Given the description of an element on the screen output the (x, y) to click on. 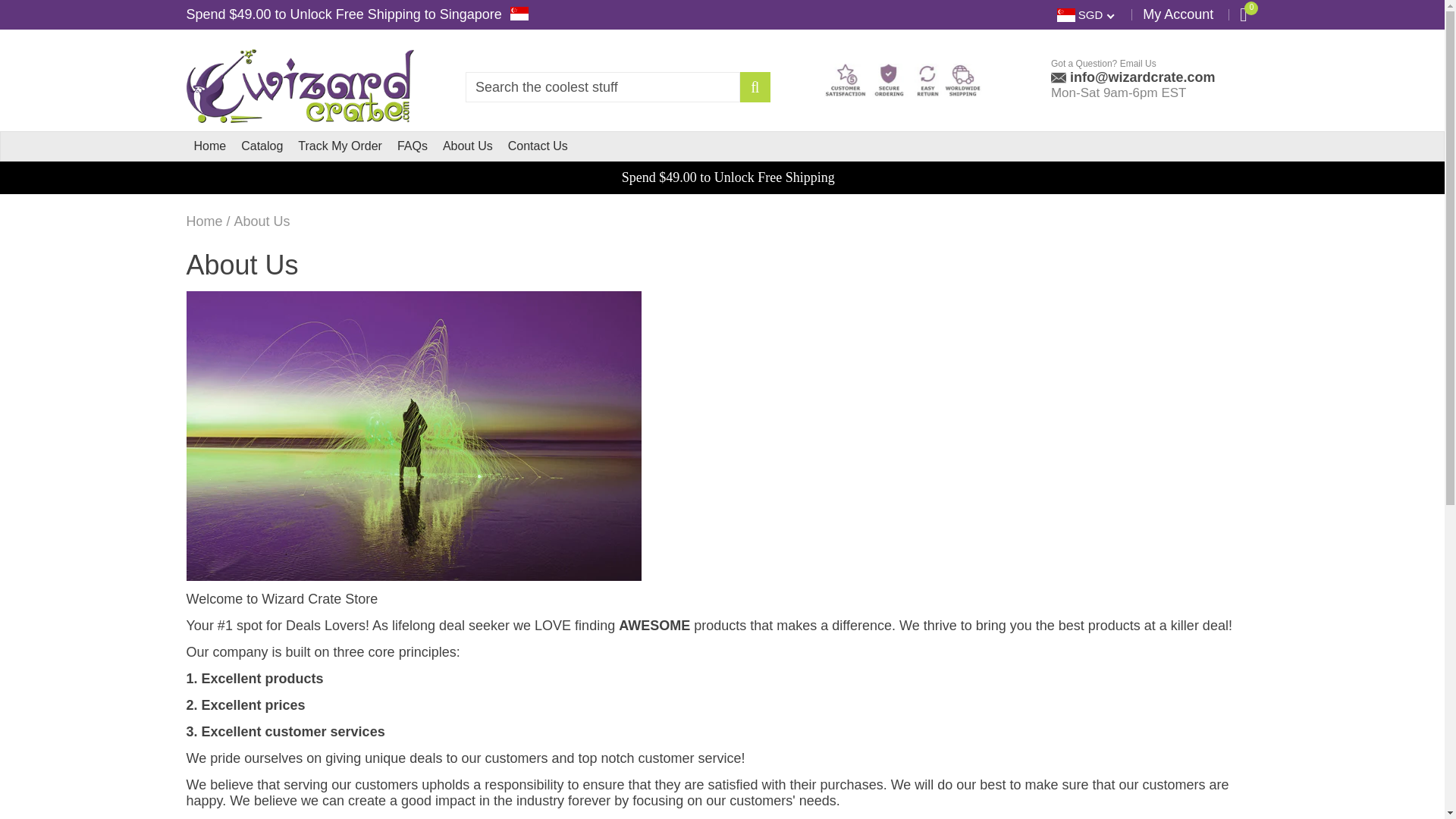
Home (210, 145)
Back to the home page (204, 221)
Catalog (261, 145)
0 (1242, 14)
My Account (1177, 14)
Track My Order (339, 145)
